Given the description of an element on the screen output the (x, y) to click on. 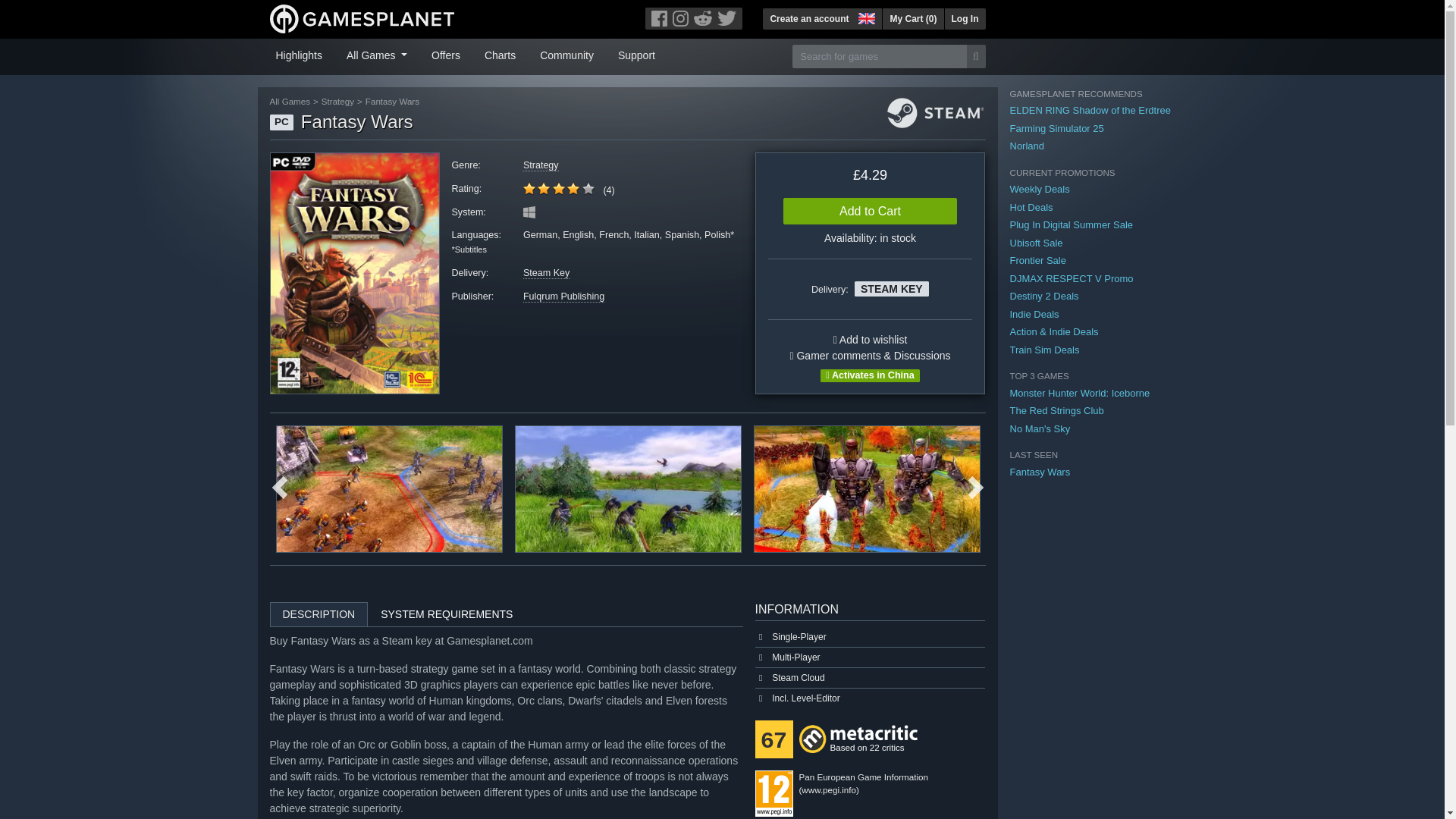
Log In (964, 18)
All Games (376, 53)
Highlights (299, 53)
good (528, 188)
good (573, 188)
good (543, 188)
good (588, 188)
good (558, 188)
good (558, 188)
Create an account (809, 18)
